Given the description of an element on the screen output the (x, y) to click on. 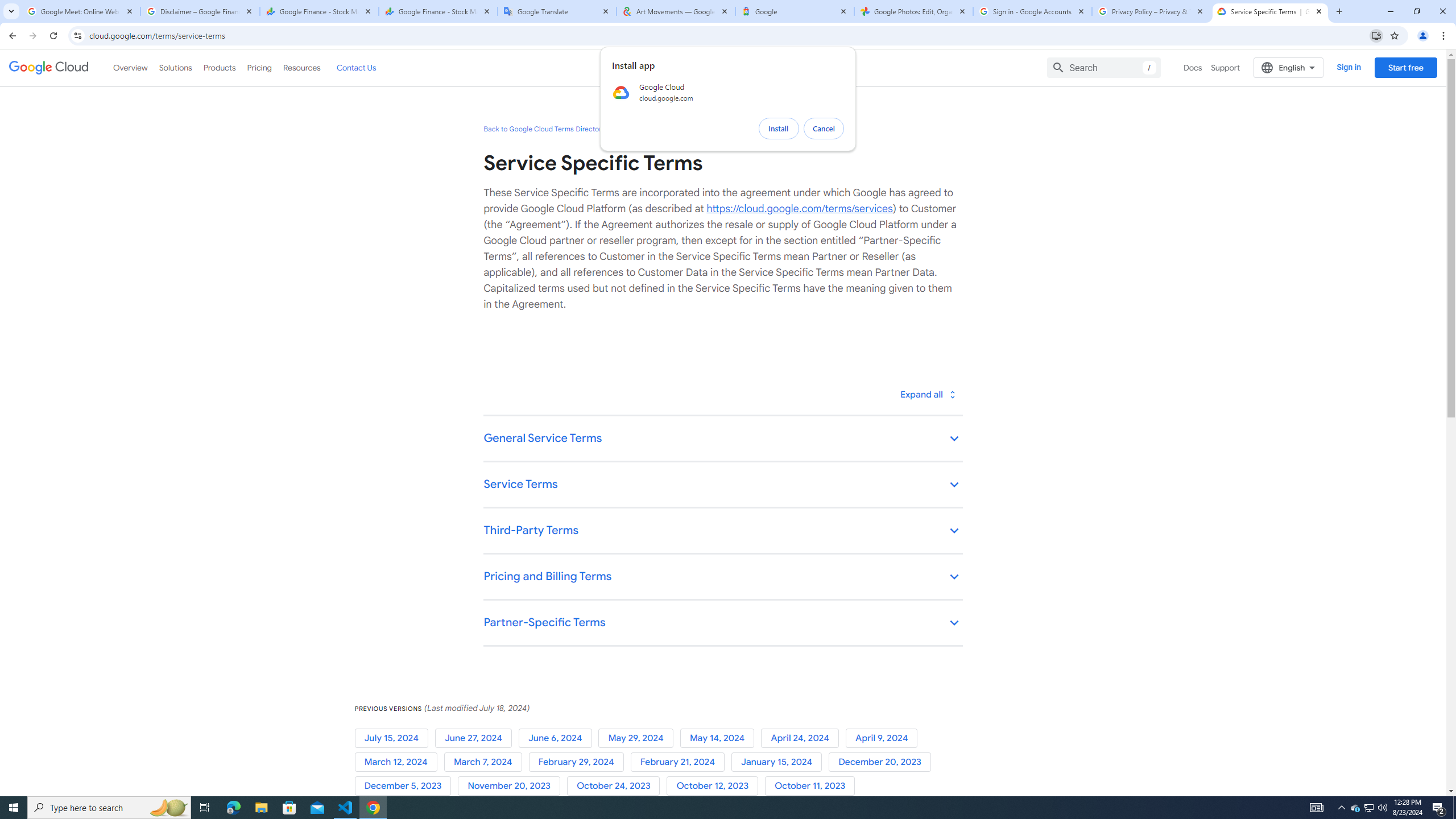
January 15, 2024 (779, 761)
Pricing (259, 67)
April 24, 2024 (803, 737)
Third-Party Terms keyboard_arrow_down (722, 531)
March 7, 2024 (486, 761)
Overview (130, 67)
May 14, 2024 (720, 737)
Support (1225, 67)
Docs (1192, 67)
Solutions (175, 67)
